Given the description of an element on the screen output the (x, y) to click on. 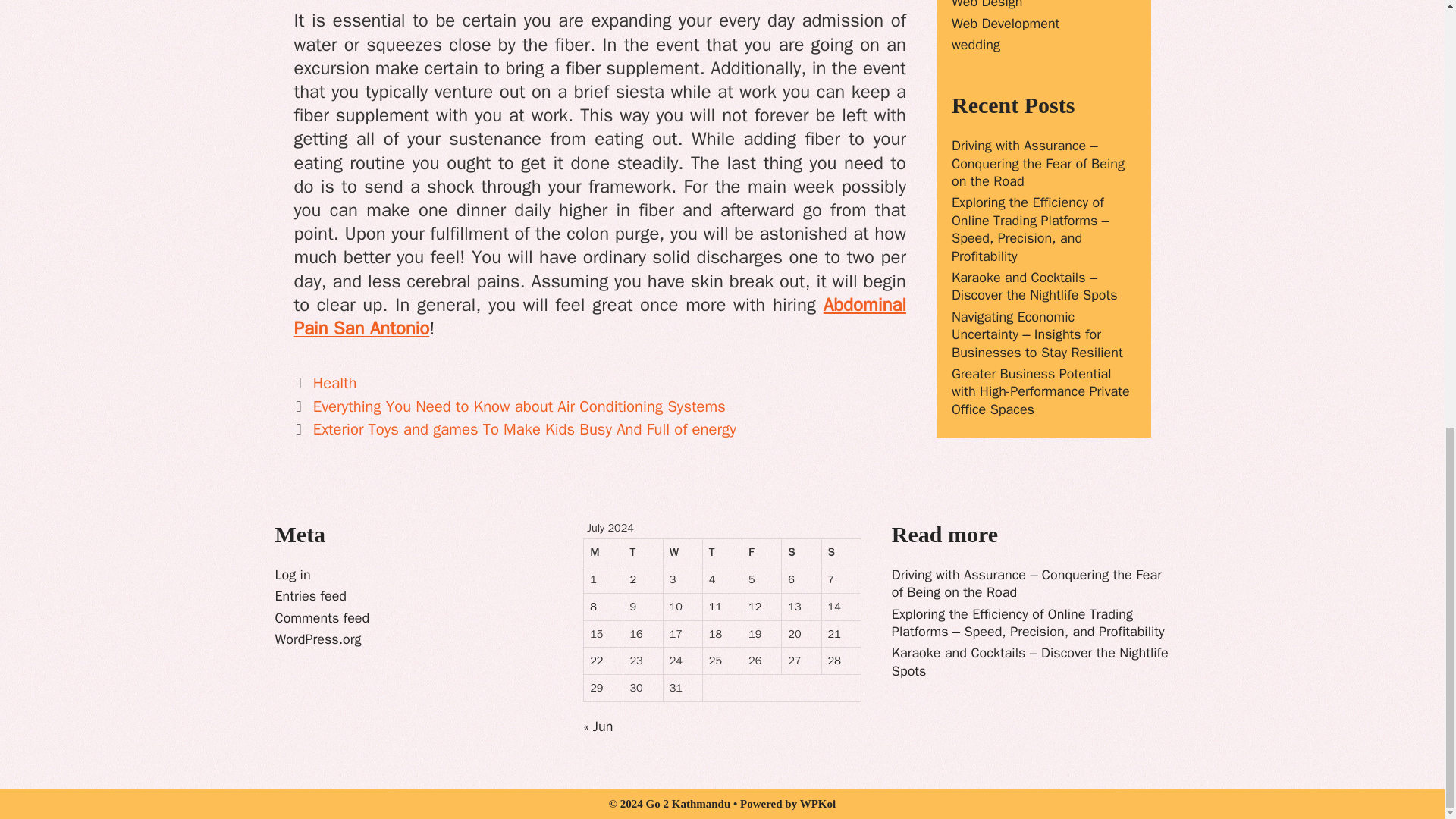
Health (334, 383)
Next (515, 428)
Previous (509, 406)
Thursday (722, 552)
Exterior Toys and games To Make Kids Busy And Full of energy (524, 428)
Sunday (841, 552)
Friday (761, 552)
Tuesday (642, 552)
Wednesday (683, 552)
Saturday (801, 552)
Everything You Need to Know about Air Conditioning Systems (519, 406)
Monday (603, 552)
Abdominal Pain San Antonio (600, 316)
